Given the description of an element on the screen output the (x, y) to click on. 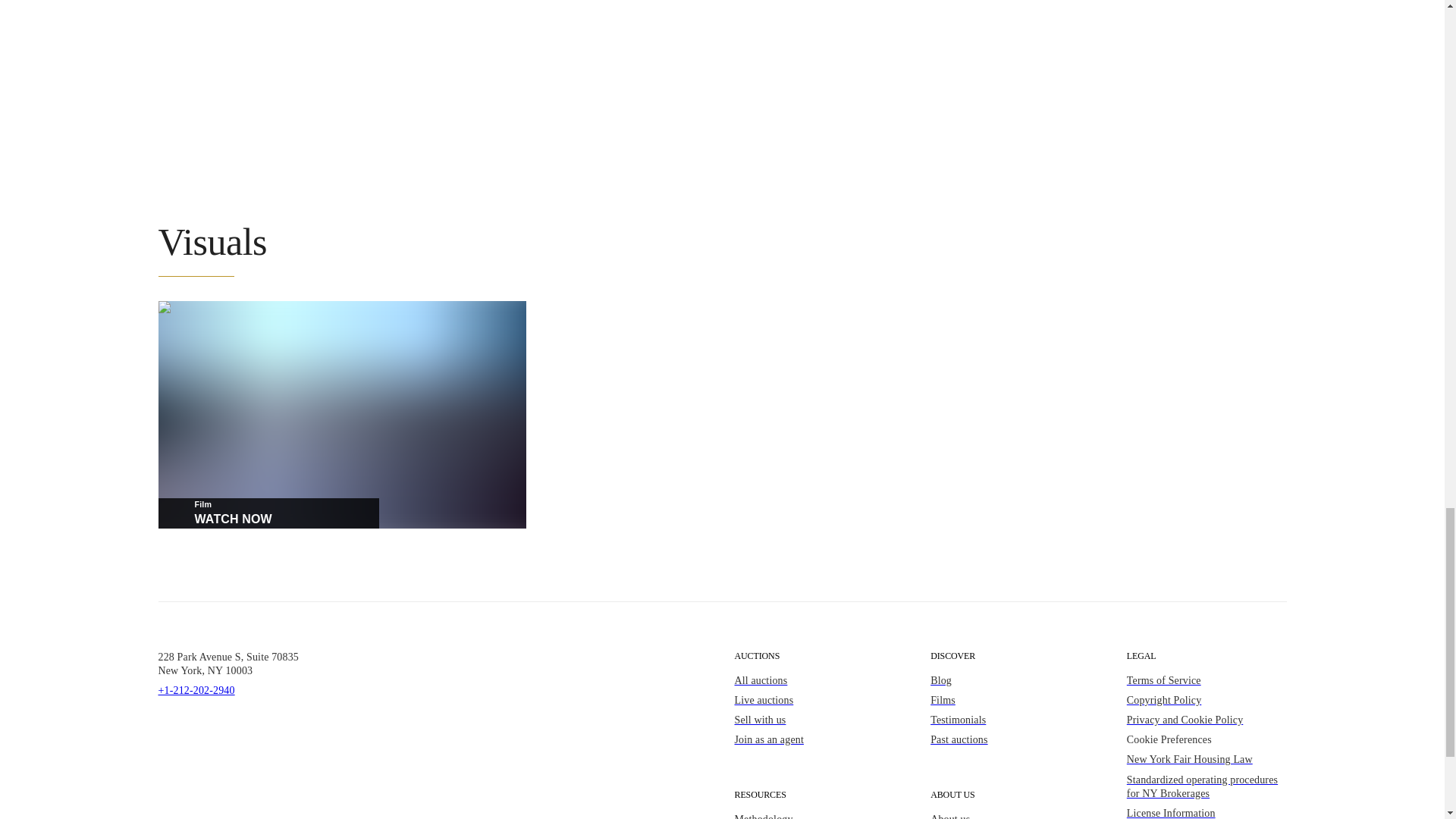
All auctions (813, 680)
Live auctions (813, 700)
Sell with us (813, 720)
